Given the description of an element on the screen output the (x, y) to click on. 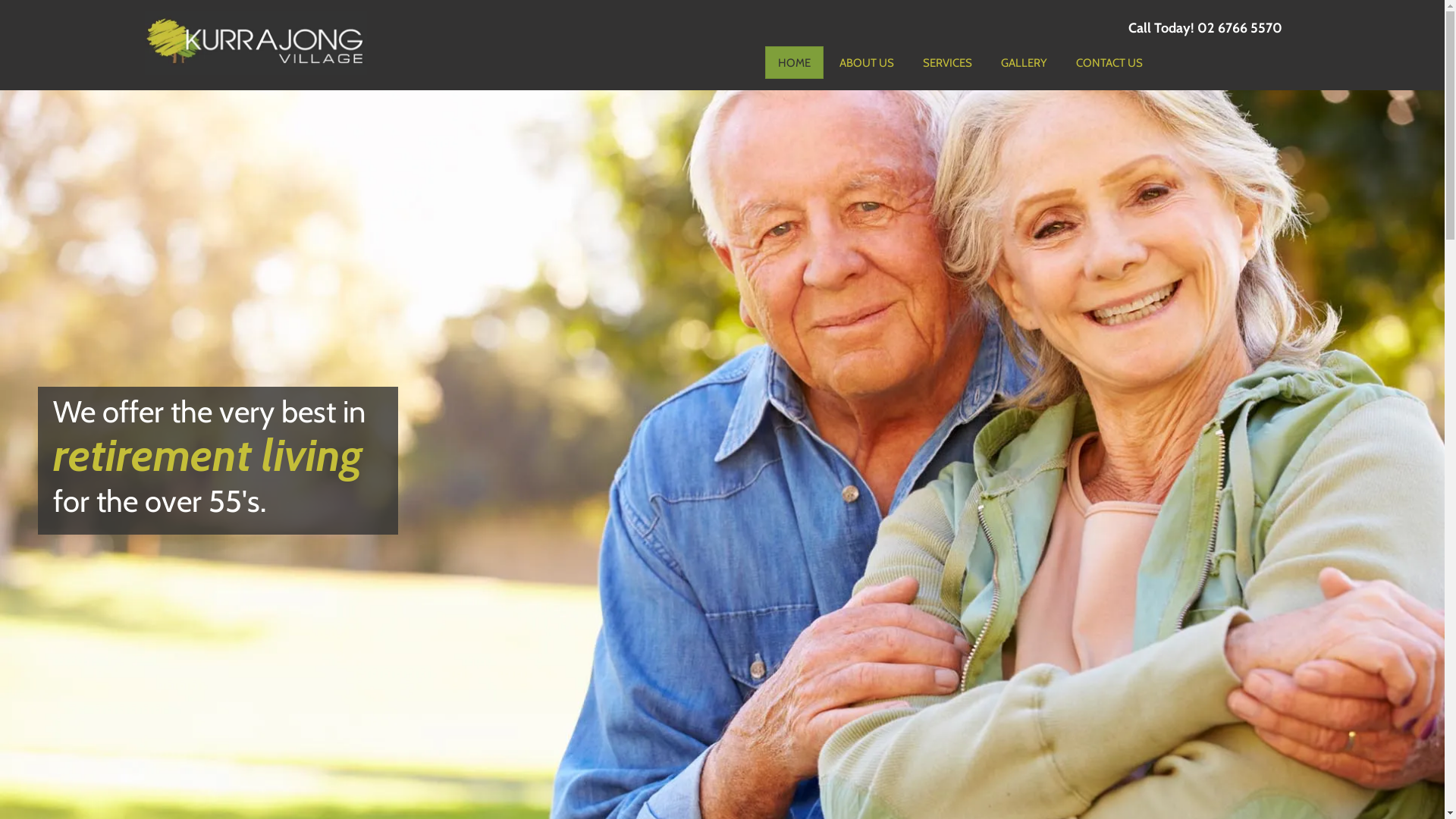
ABOUT US Element type: text (866, 61)
CONTACT US Element type: text (1109, 61)
SERVICES Element type: text (947, 61)
02 6766 5570 Element type: text (1239, 27)
HOME Element type: text (794, 61)
GALLERY Element type: text (1024, 61)
